Given the description of an element on the screen output the (x, y) to click on. 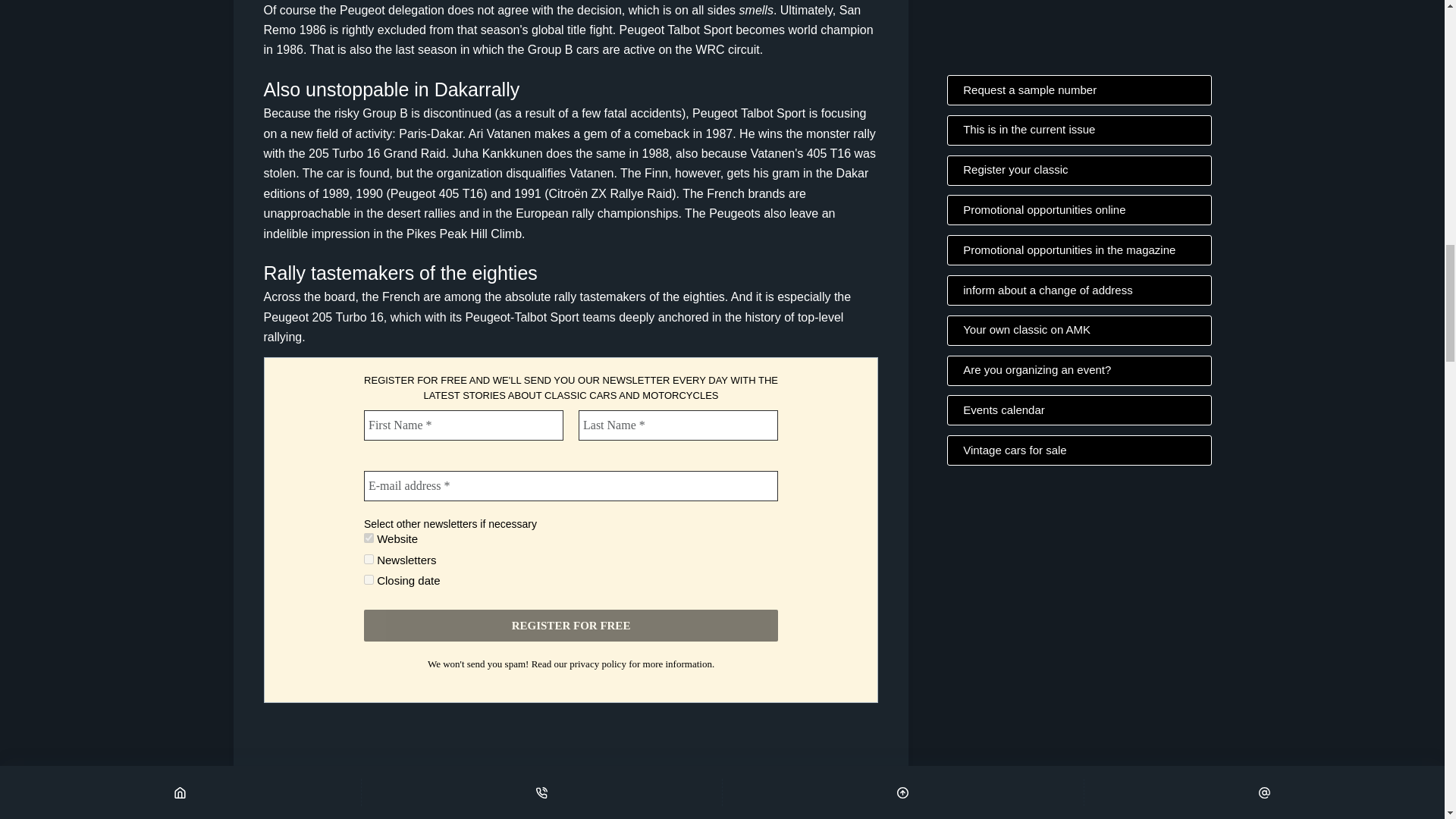
3 (369, 580)
5 (369, 538)
REGISTER FOR FREE (570, 625)
4 (369, 559)
Voornaam (463, 426)
